Given the description of an element on the screen output the (x, y) to click on. 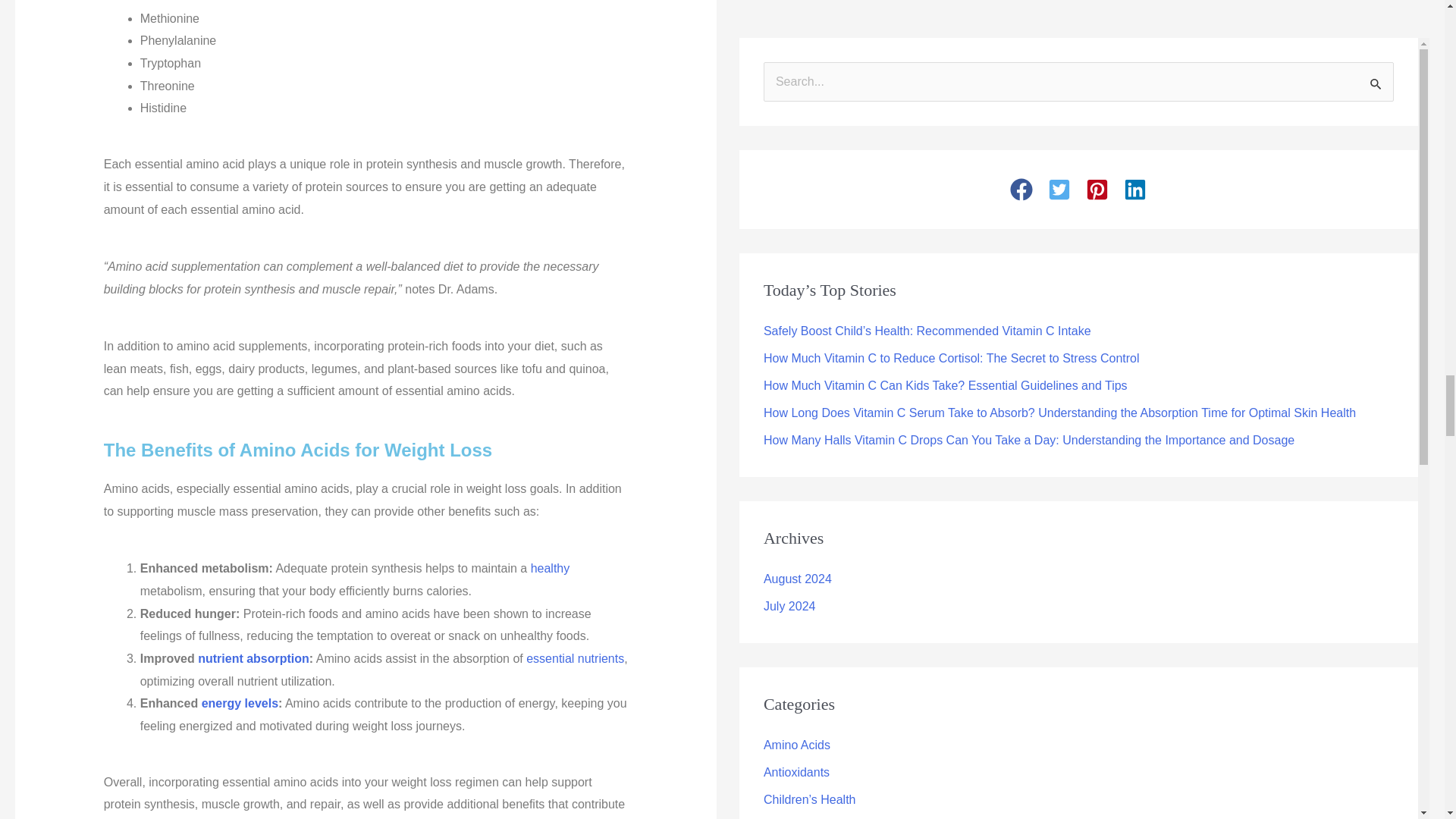
essential nutrients (574, 658)
healthy (550, 567)
nutrient absorption (253, 658)
energy levels (240, 703)
